Given the description of an element on the screen output the (x, y) to click on. 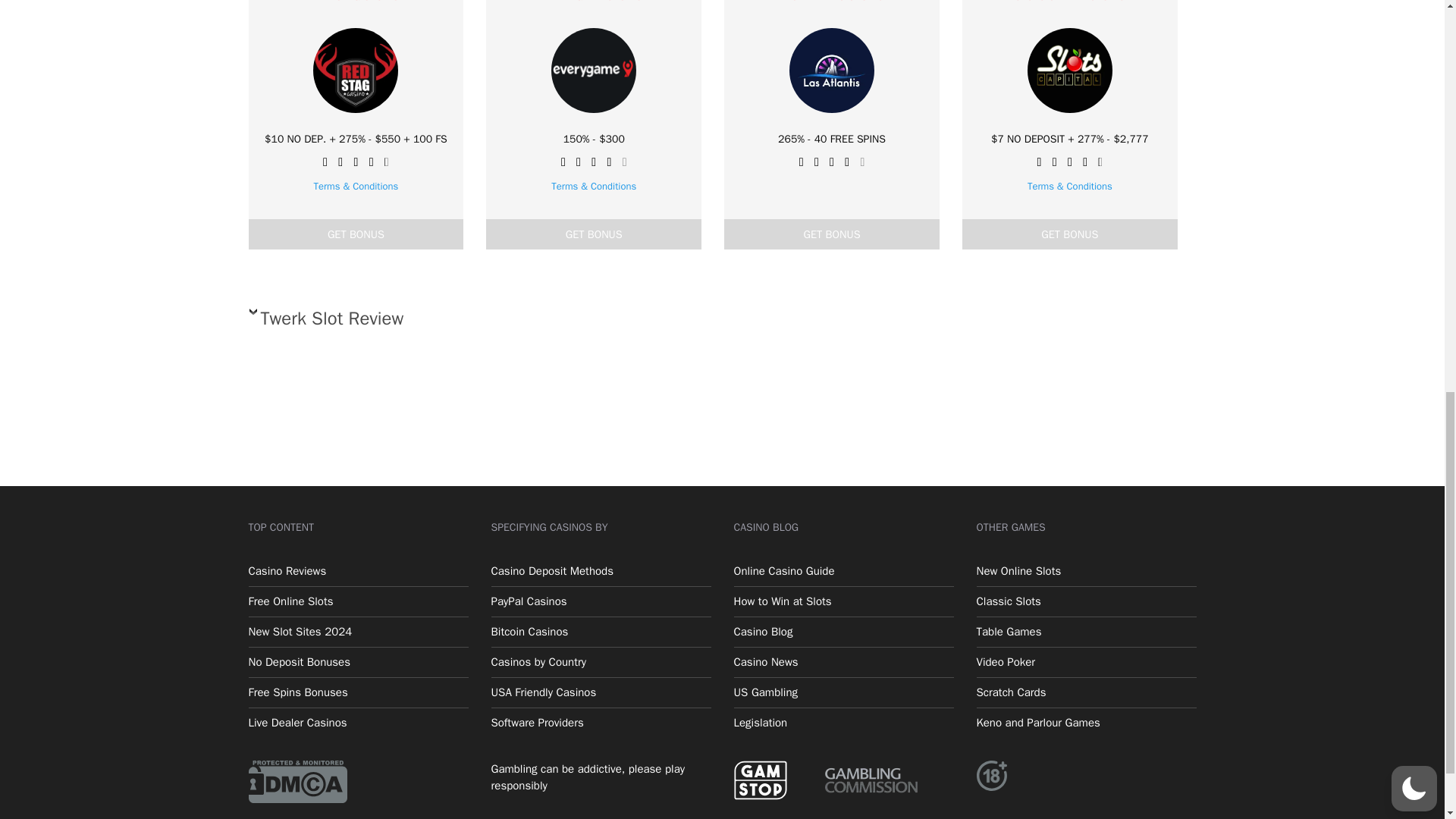
Ice pirates (1080, 353)
Buffalo 50 (1080, 48)
100 Zombies (1080, 196)
DMCA.com Protection Status (297, 780)
Twerk Slot Review (591, 322)
